Given the description of an element on the screen output the (x, y) to click on. 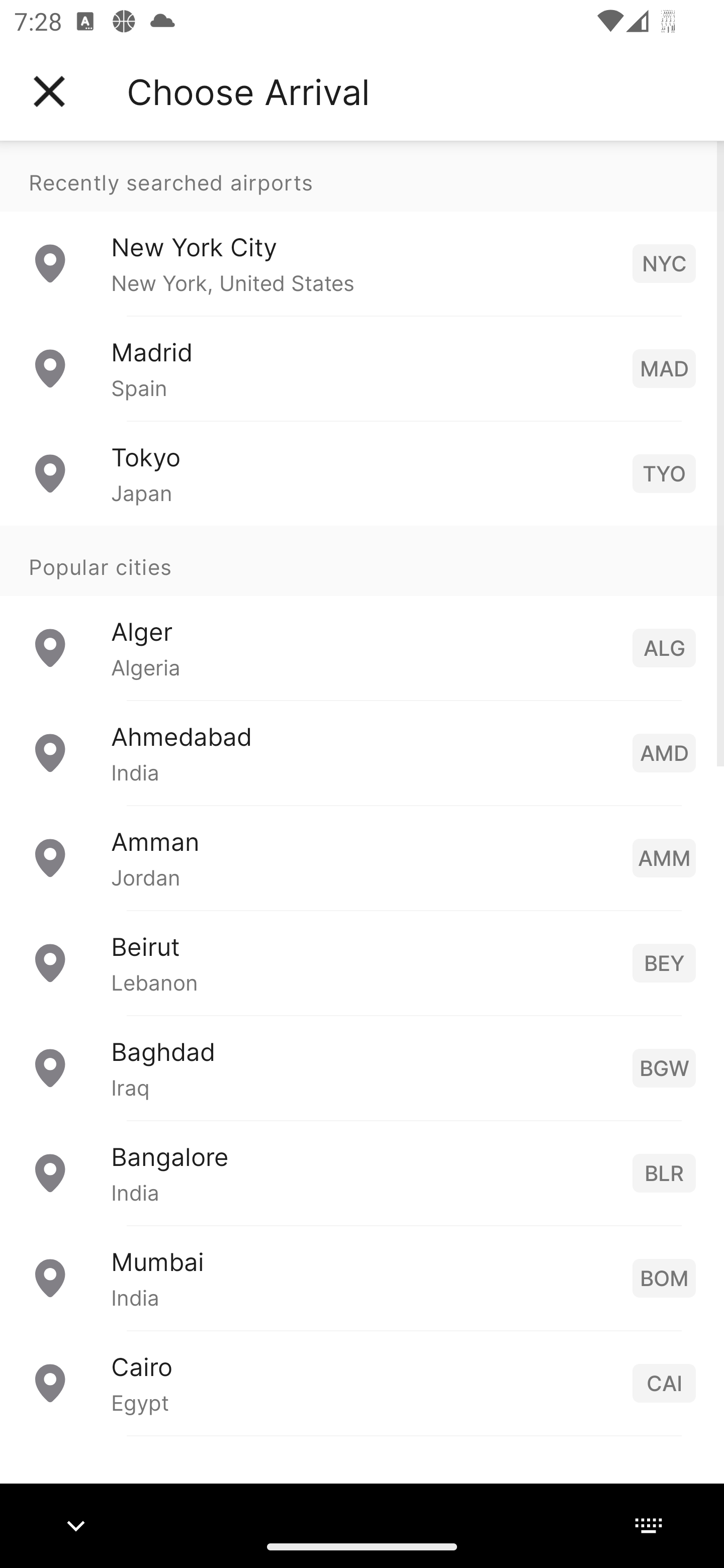
Choose Arrival (247, 91)
Recently searched airports (362, 176)
Madrid Spain MAD (362, 367)
Tokyo Japan TYO (362, 472)
Popular cities Alger Algeria ALG (362, 612)
Popular cities (362, 560)
Ahmedabad India AMD (362, 751)
Amman Jordan AMM (362, 856)
Beirut Lebanon BEY (362, 961)
Baghdad Iraq BGW (362, 1066)
Bangalore India BLR (362, 1171)
Mumbai India BOM (362, 1276)
Cairo Egypt CAI (362, 1381)
